Given the description of an element on the screen output the (x, y) to click on. 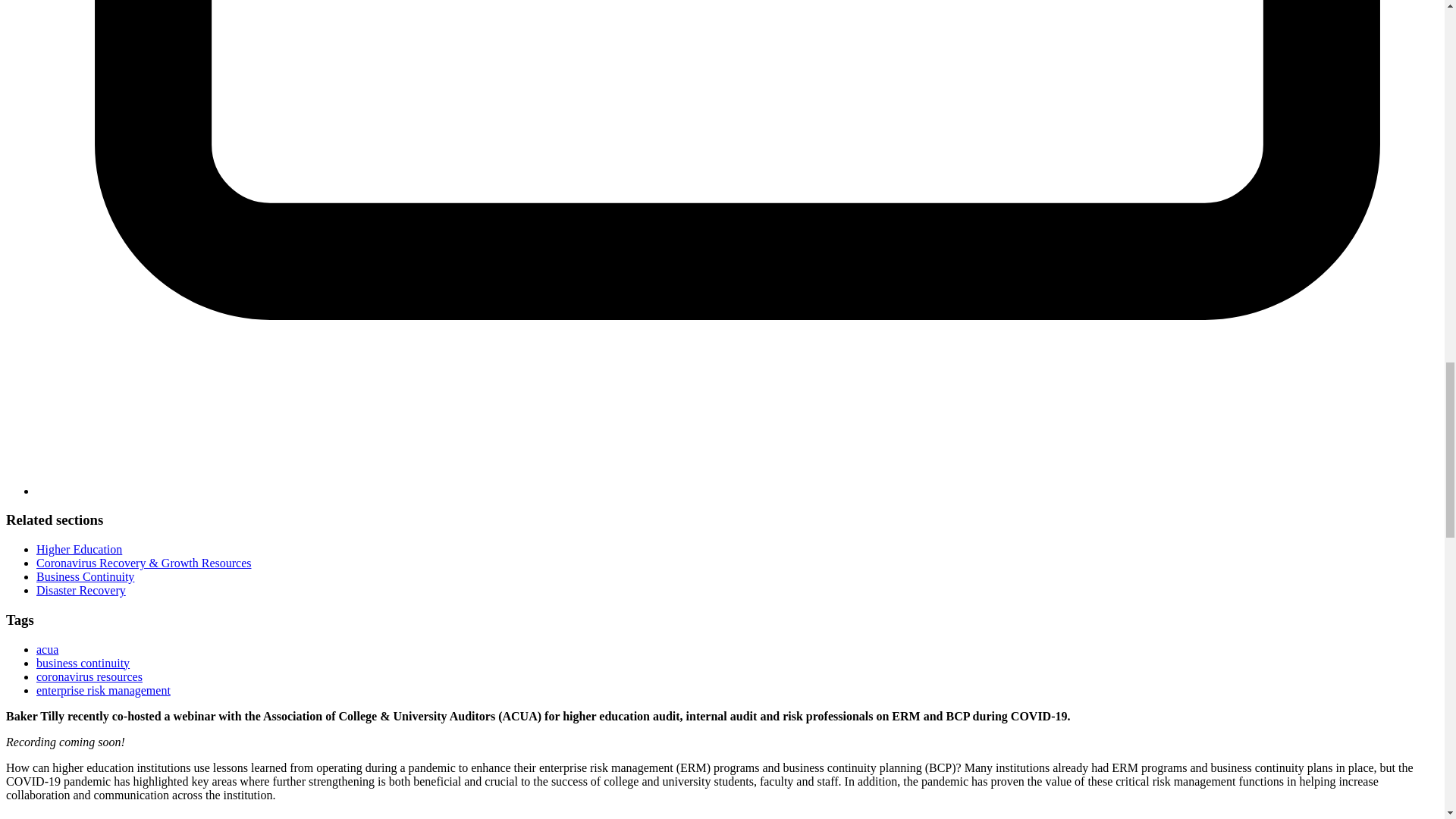
Disaster Recovery (80, 590)
Business Continuity (84, 576)
Higher Education (79, 549)
